Given the description of an element on the screen output the (x, y) to click on. 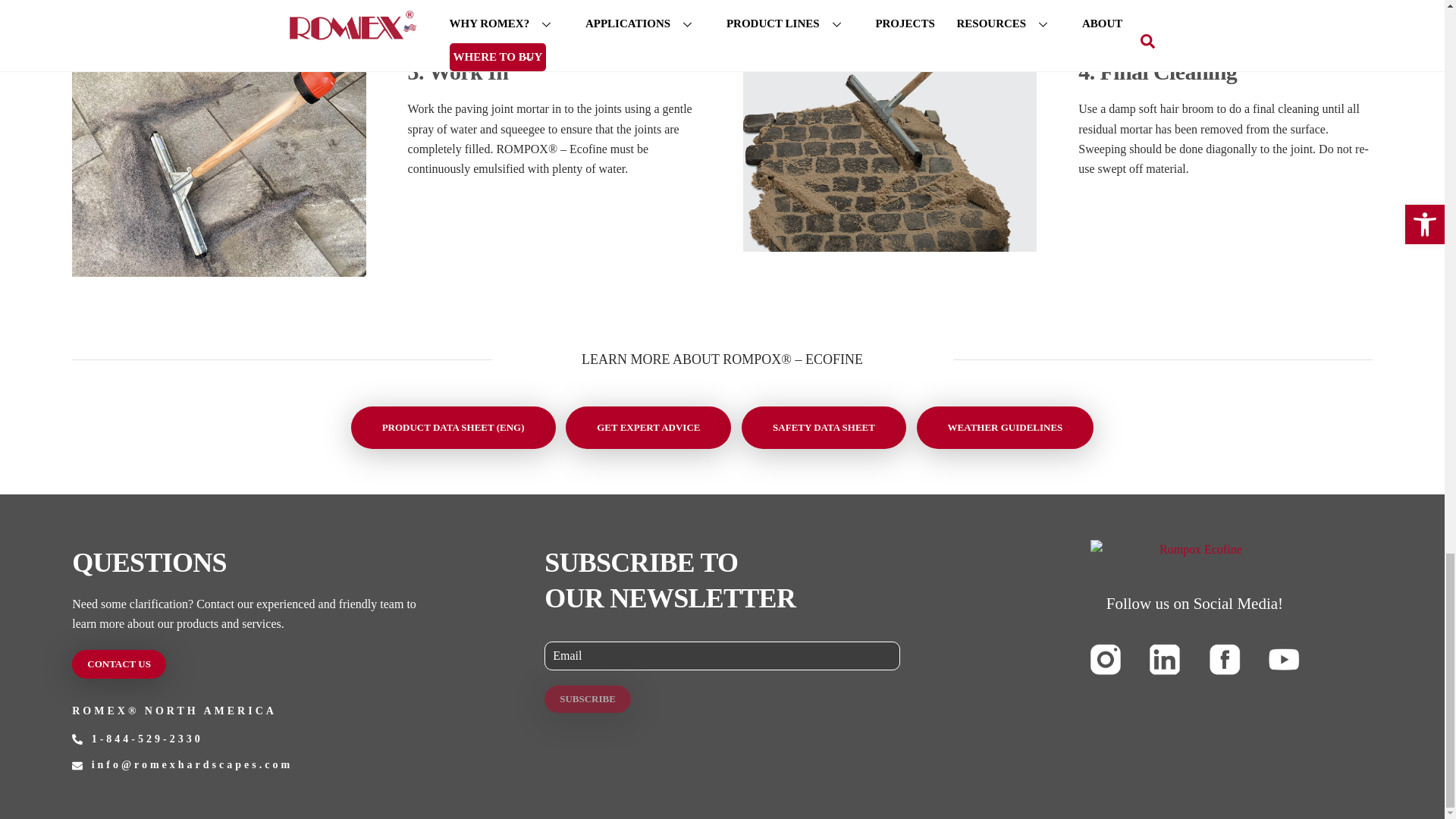
2 (889, 14)
1 (218, 14)
